Given the description of an element on the screen output the (x, y) to click on. 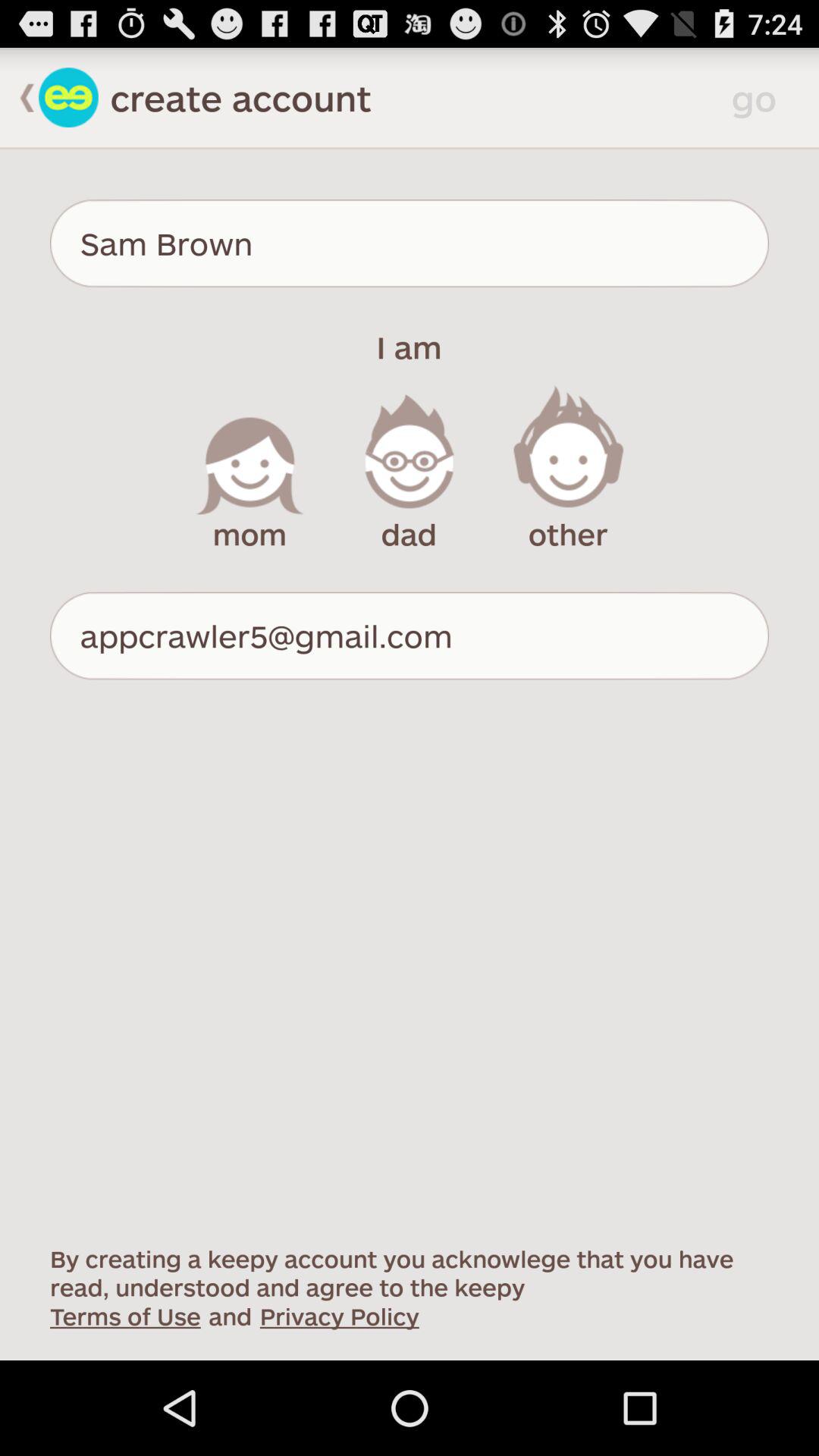
go back (19, 97)
